Given the description of an element on the screen output the (x, y) to click on. 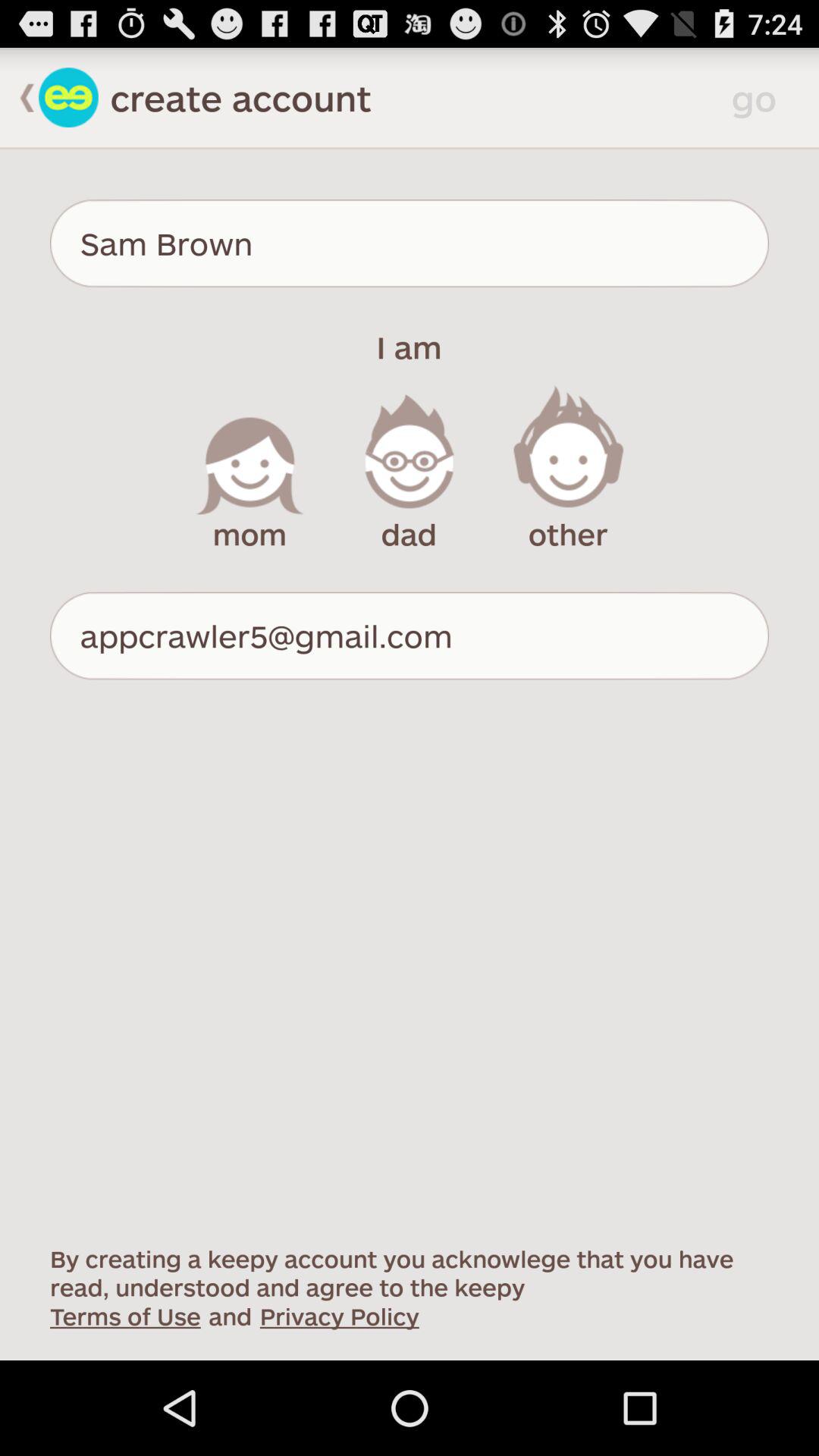
go back (19, 97)
